Given the description of an element on the screen output the (x, y) to click on. 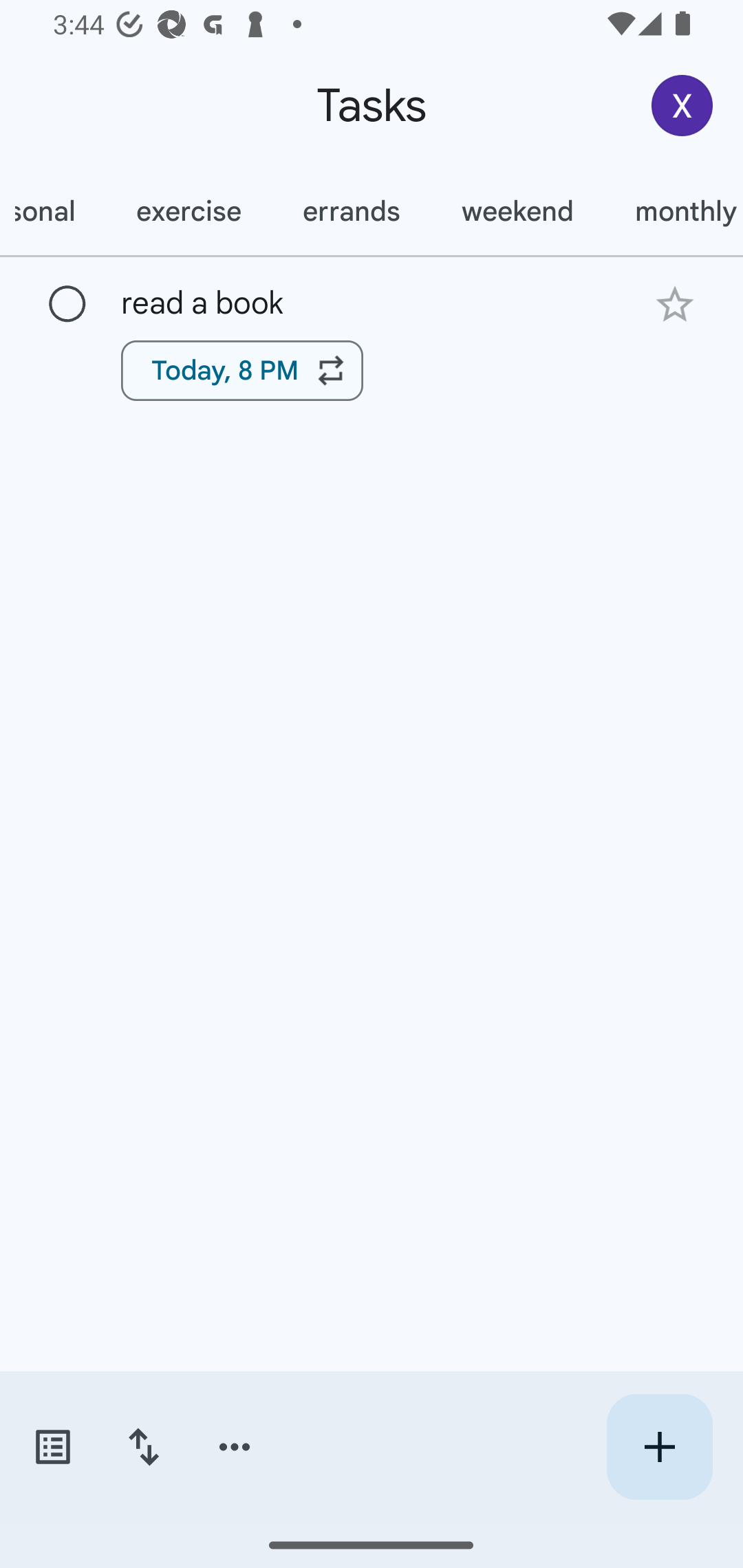
personal (52, 211)
exercise (188, 211)
errands (350, 211)
weekend (517, 211)
monthly (673, 211)
Add star (674, 303)
Mark as complete (67, 304)
Today, 8 PM (242, 369)
Switch task lists (52, 1447)
Create new task (659, 1446)
Change sort order (143, 1446)
More options (234, 1446)
